Given the description of an element on the screen output the (x, y) to click on. 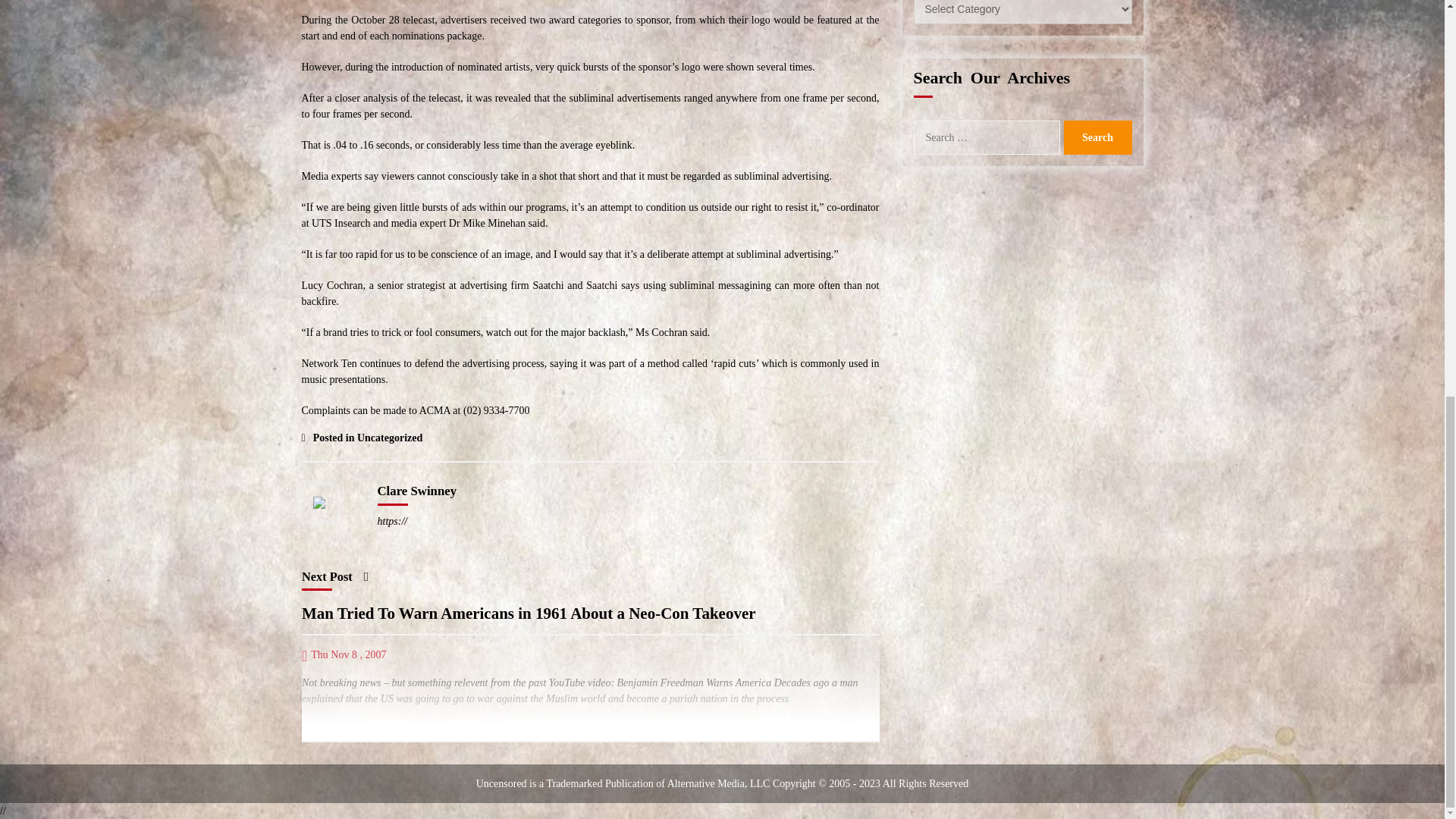
Search (1096, 137)
Search (1096, 137)
